Given the description of an element on the screen output the (x, y) to click on. 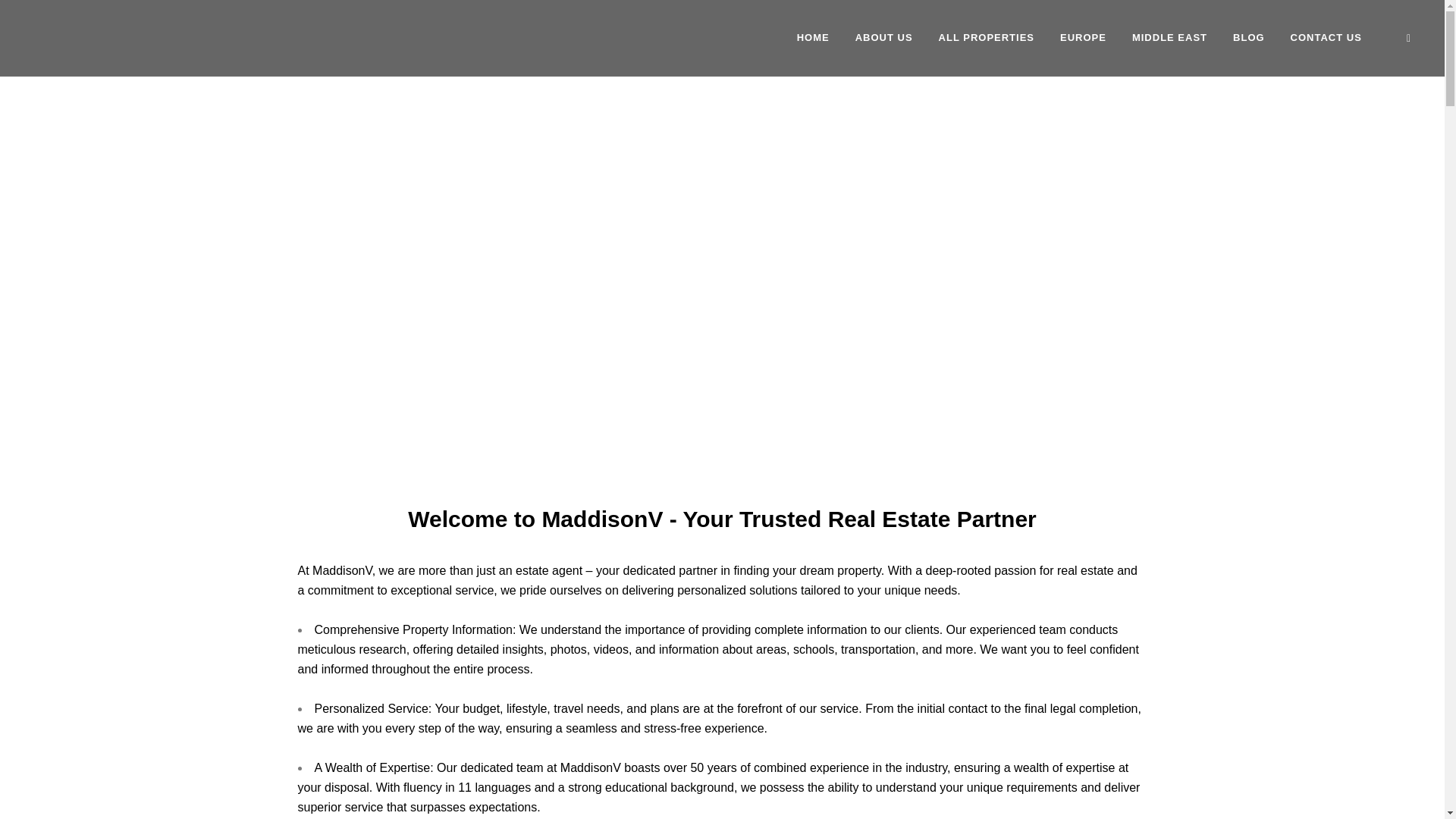
ABOUT US (884, 38)
ALL PROPERTIES (986, 38)
CONTACT US (1326, 38)
MIDDLE EAST (1169, 38)
EUROPE (1082, 38)
